Given the description of an element on the screen output the (x, y) to click on. 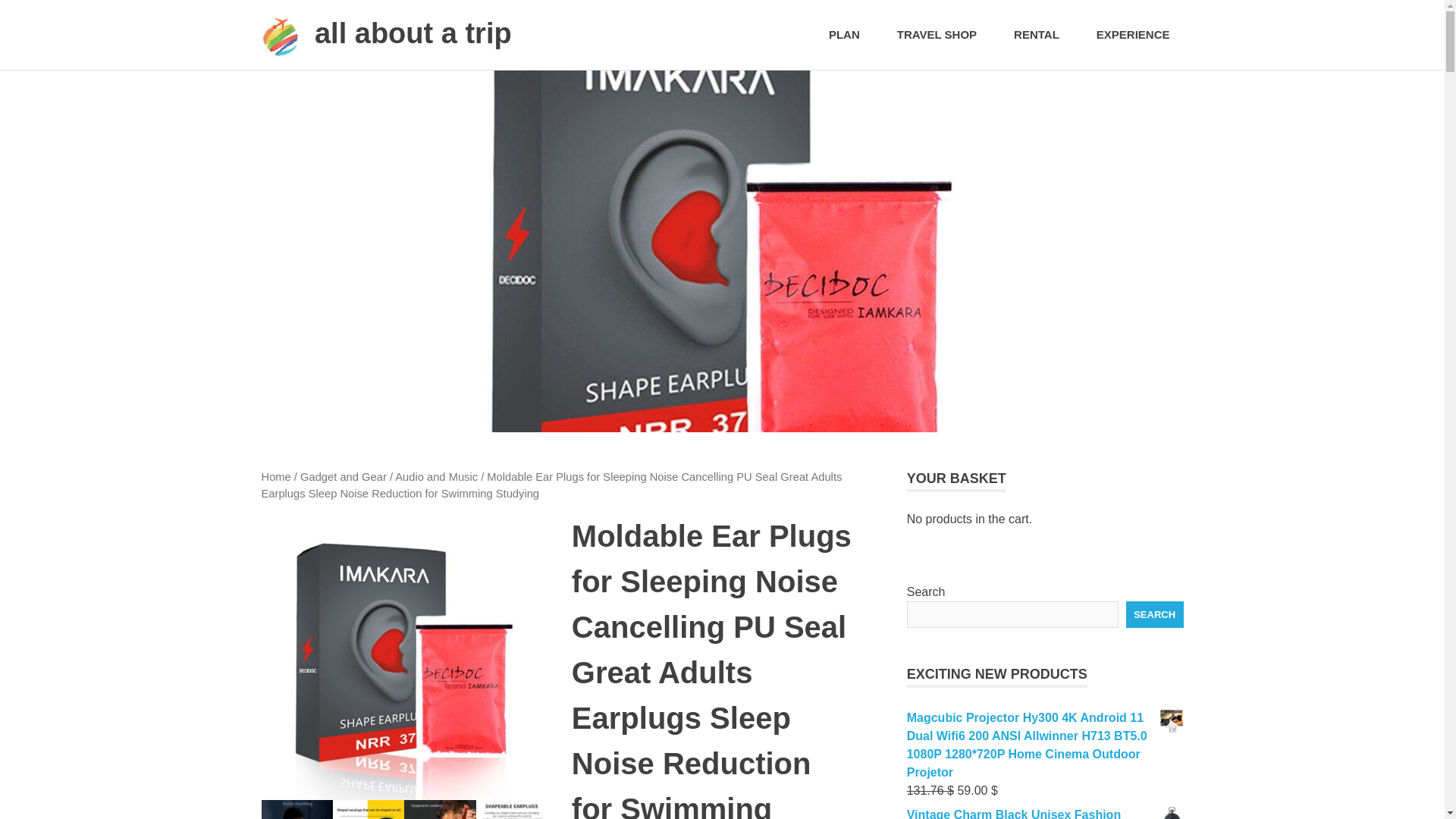
RENTAL (1041, 35)
Gadget and Gear (343, 476)
EXPERIENCE (1133, 35)
TRAVEL SHOP (941, 35)
Audio and Music (435, 476)
Home (274, 476)
all about a trip (413, 33)
